Given the description of an element on the screen output the (x, y) to click on. 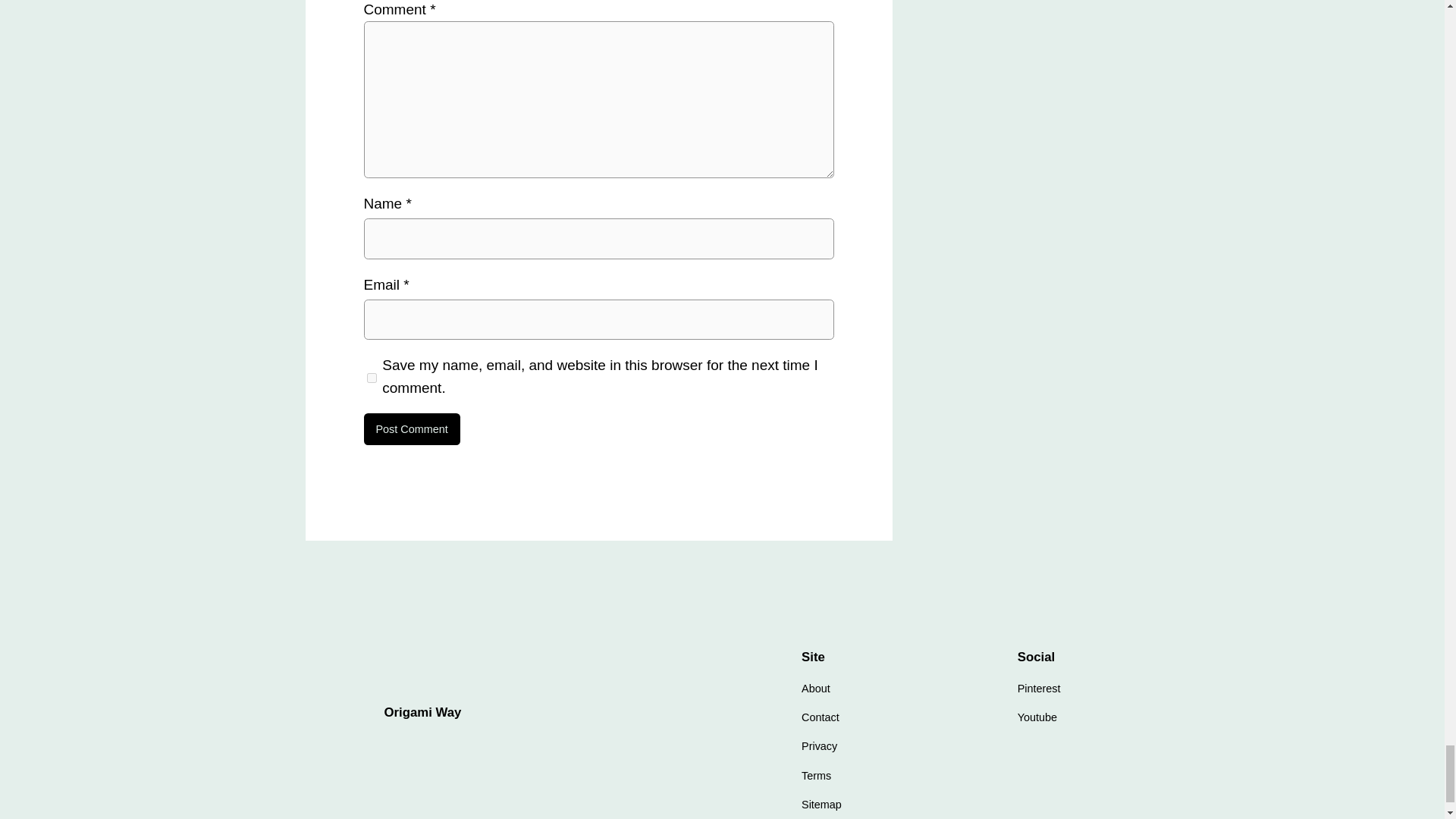
Youtube (1037, 717)
About (815, 688)
Contact (821, 717)
Privacy (819, 745)
Sitemap (821, 804)
Post Comment (412, 429)
Terms (816, 775)
Pinterest (1039, 688)
Origami Way (422, 712)
Post Comment (412, 429)
